Given the description of an element on the screen output the (x, y) to click on. 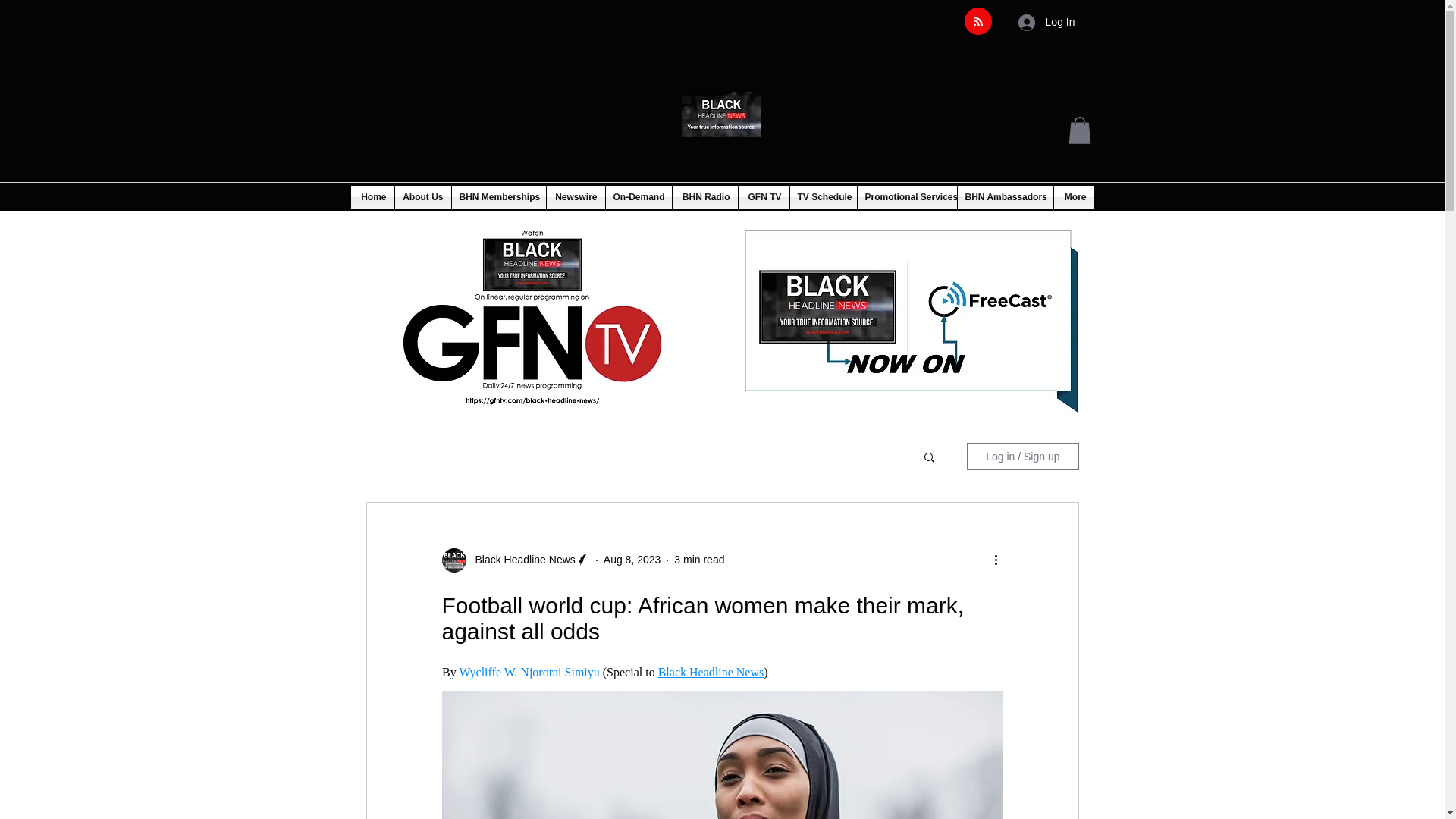
GFN TV (763, 196)
Log In (1046, 22)
Home (371, 196)
Aug 8, 2023 (632, 559)
About Us (421, 196)
3 min read (698, 559)
Black Headline News (710, 671)
Black Headline News (520, 560)
Black Headline News (515, 559)
TV Schedule (823, 196)
Newswire (575, 196)
Wycliffe W. Njororai Simiyu  (530, 671)
BHN Radio (703, 196)
